Given the description of an element on the screen output the (x, y) to click on. 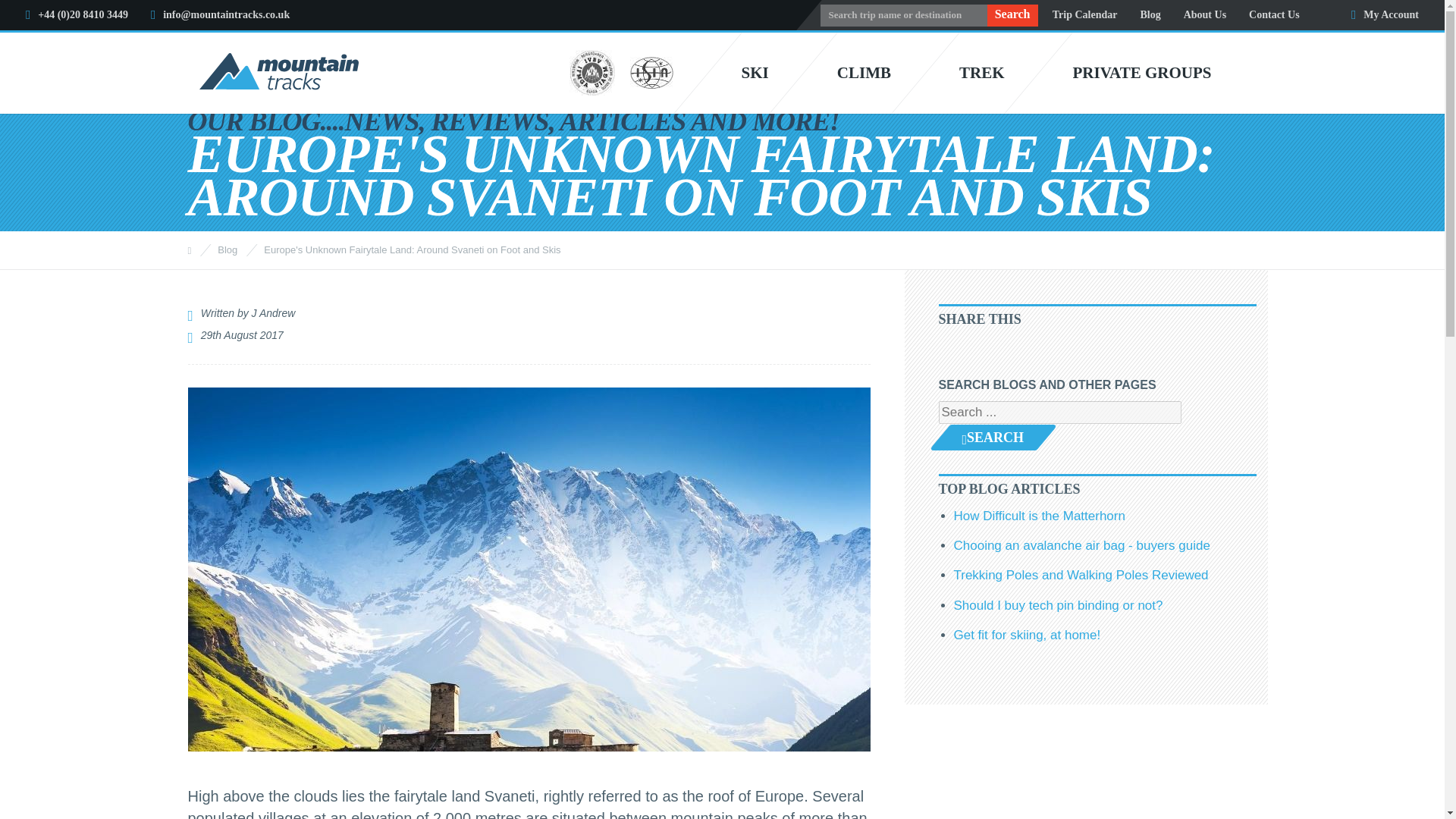
mountaintracks.co.uk (278, 73)
Contact Us (1274, 15)
About Us (1204, 15)
SKI (755, 72)
Trip Calendar (1085, 15)
My Account (1384, 15)
Search (1012, 15)
